Given the description of an element on the screen output the (x, y) to click on. 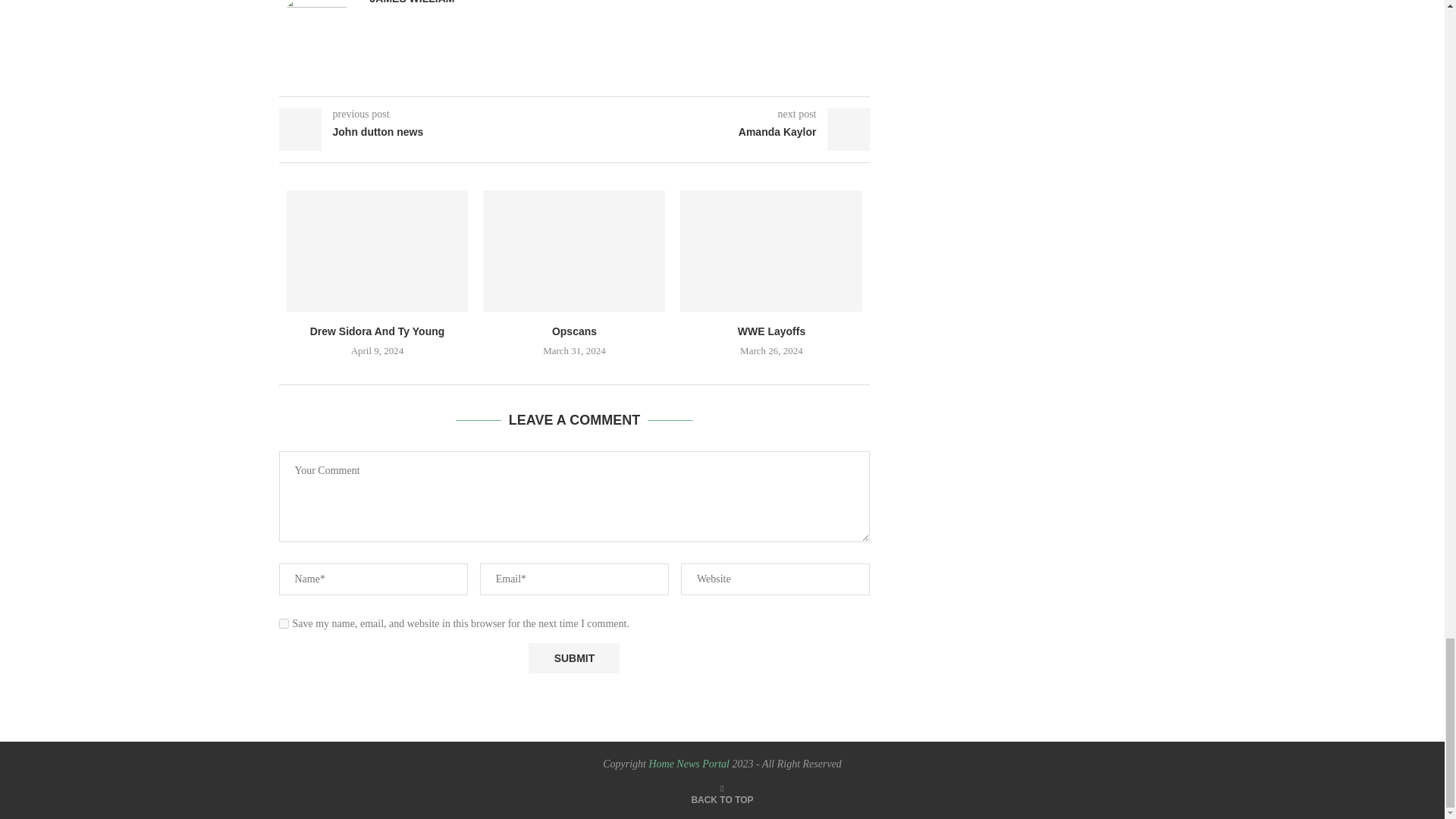
Author James William (411, 2)
Opscans (574, 251)
Drew Sidora And Ty Young (377, 251)
WWE Layoffs (770, 251)
yes (283, 623)
Submit (574, 657)
